Given the description of an element on the screen output the (x, y) to click on. 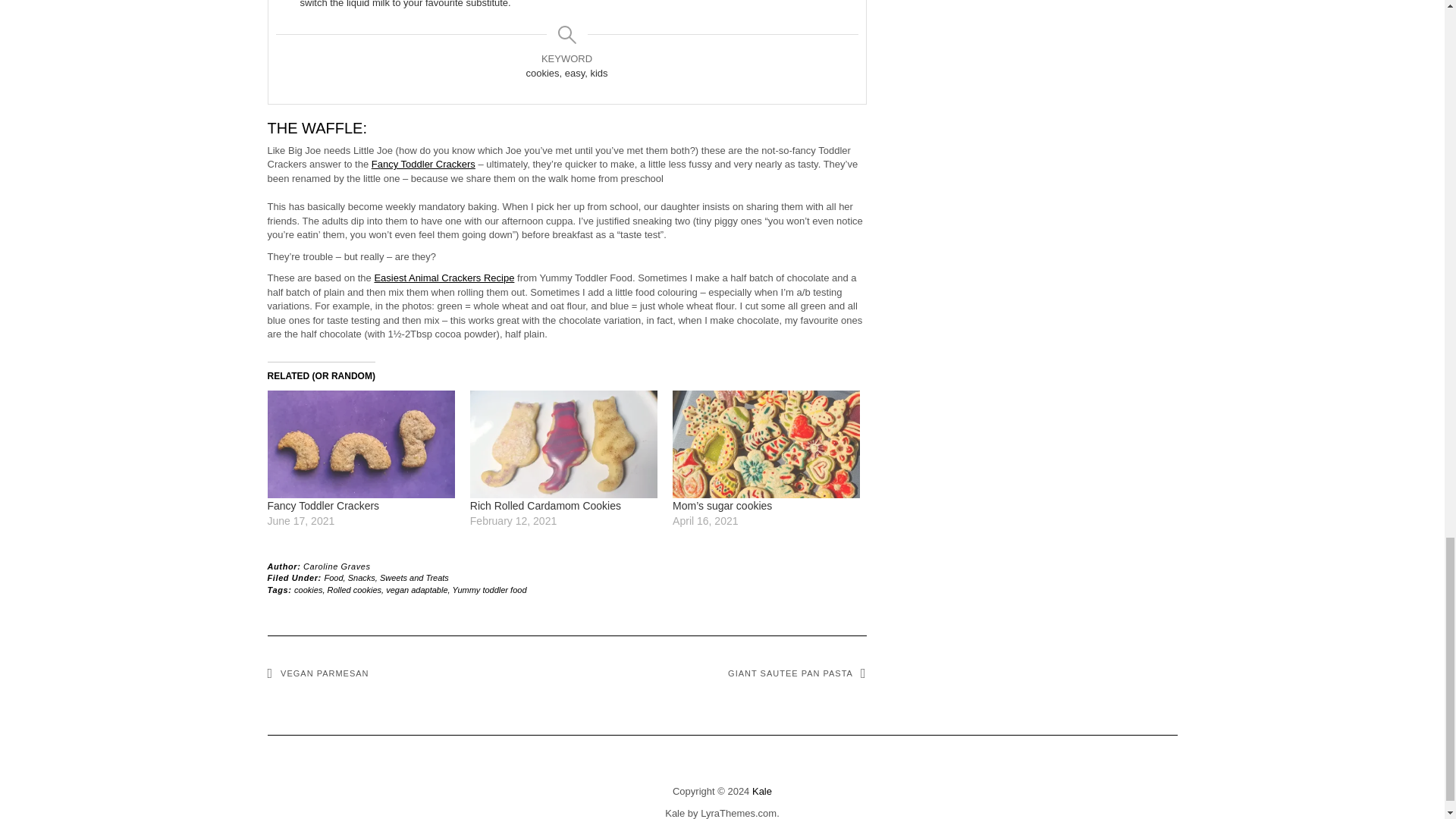
VEGAN PARMESAN (317, 673)
Food (333, 577)
Yummy toddler food (488, 589)
cookies (307, 589)
Fancy Toddler Crackers (360, 443)
GIANT SAUTEE PAN PASTA (797, 673)
Rich Rolled Cardamom Cookies (545, 505)
Fancy Toddler Crackers (423, 163)
Posts by Caroline Graves (335, 565)
Caroline Graves (335, 565)
